Given the description of an element on the screen output the (x, y) to click on. 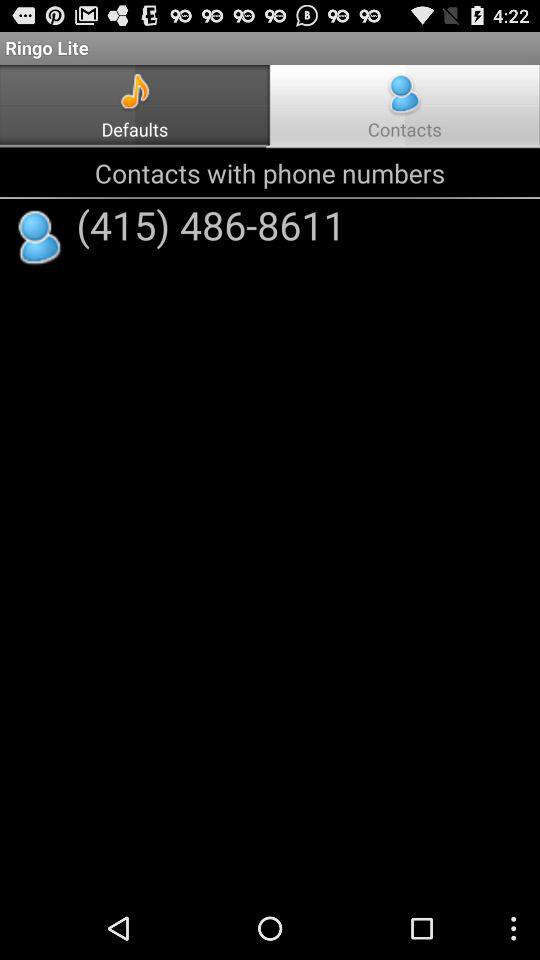
choose the app to the left of the (415) 486-8611 app (39, 238)
